Given the description of an element on the screen output the (x, y) to click on. 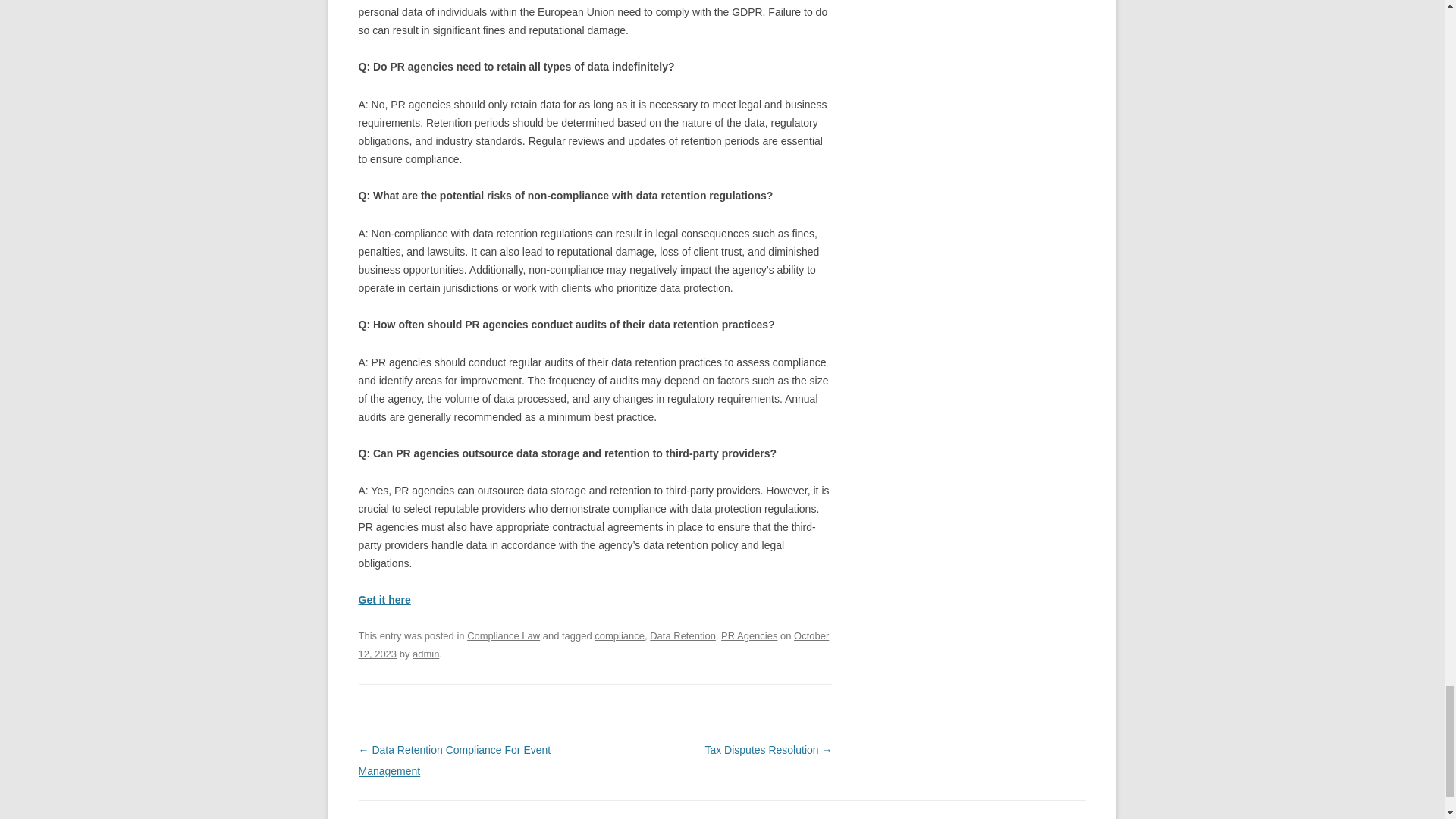
Data Retention (682, 635)
See the Get it here in detail. (384, 599)
Get it here (384, 599)
Compliance Law (503, 635)
8:47 am (593, 644)
October 12, 2023 (593, 644)
compliance (619, 635)
admin (425, 654)
PR Agencies (748, 635)
View all posts by admin (425, 654)
